Given the description of an element on the screen output the (x, y) to click on. 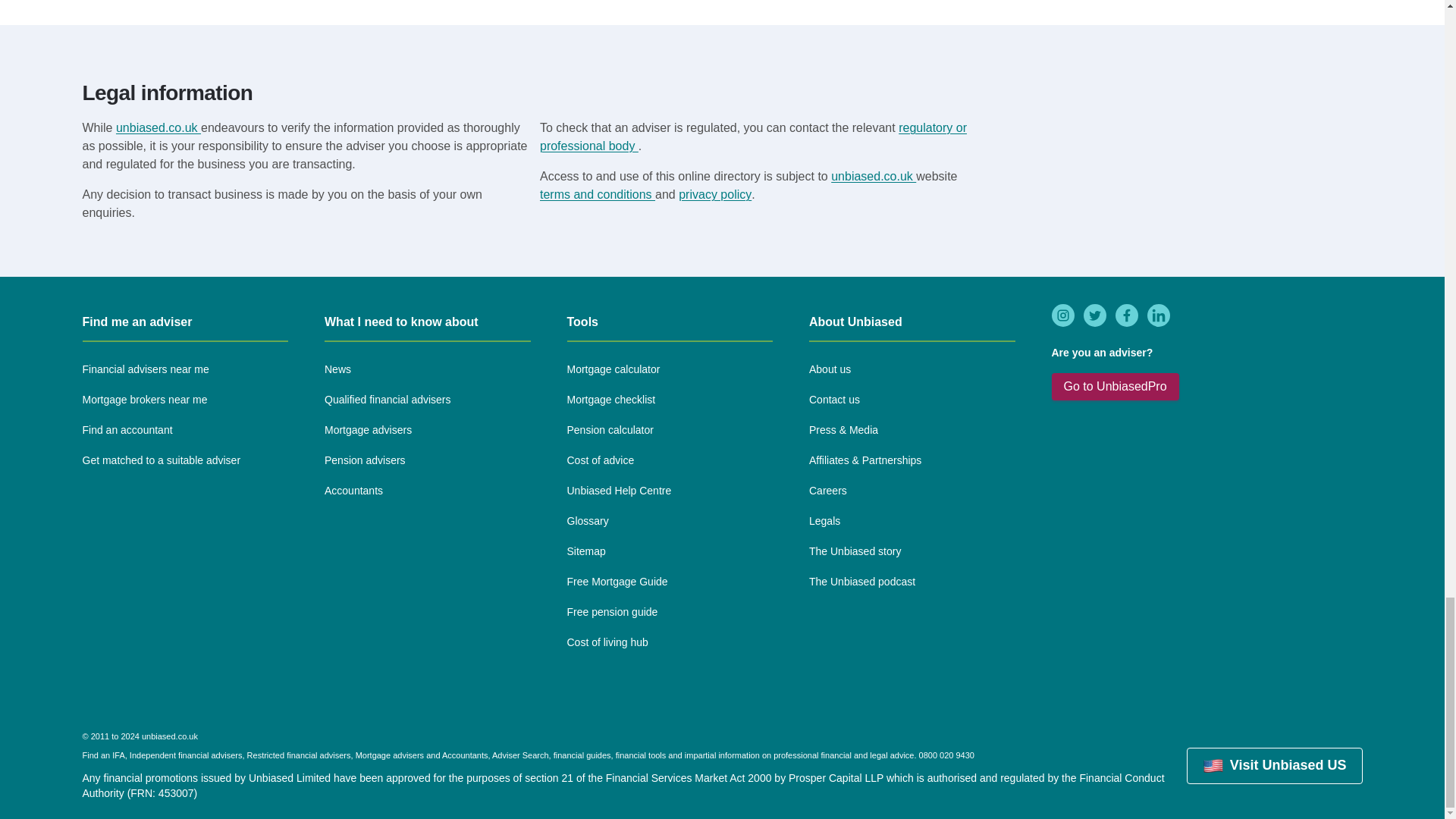
regulatory or professional body (753, 136)
Financial advisers near me (144, 369)
privacy policy (714, 194)
terms and conditions (597, 194)
Qualified financial advisers (387, 400)
Find an accountant (126, 430)
News (337, 369)
Mortgage brokers near me (143, 400)
Get matched to a suitable adviser (160, 460)
unbiased.co.uk (158, 127)
unbiased.co.uk (873, 175)
